Given the description of an element on the screen output the (x, y) to click on. 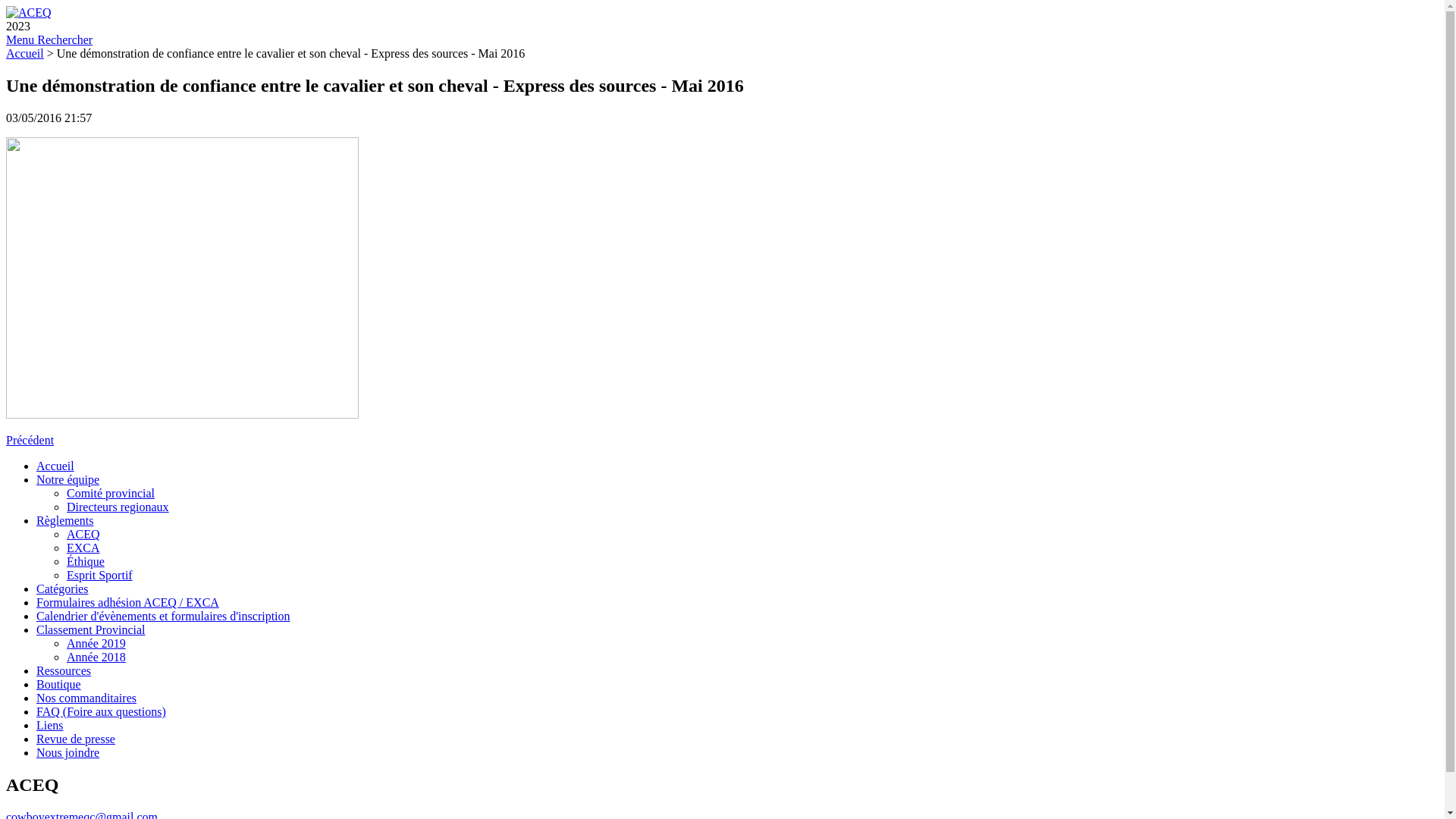
Menu Element type: text (21, 39)
Accueil Element type: text (24, 53)
Accueil Element type: text (55, 465)
Classement Provincial Element type: text (90, 629)
Nos commanditaires Element type: text (86, 697)
Esprit Sportif Element type: text (99, 574)
FAQ (Foire aux questions) Element type: text (101, 711)
ACEQ Element type: text (83, 533)
EXCA Element type: text (83, 547)
Directeurs regionaux Element type: text (117, 506)
Nous joindre Element type: text (67, 752)
Ressources Element type: text (63, 670)
Boutique Element type: text (58, 683)
Rechercher Element type: text (64, 39)
Revue de presse Element type: text (75, 738)
Liens Element type: text (49, 724)
